Given the description of an element on the screen output the (x, y) to click on. 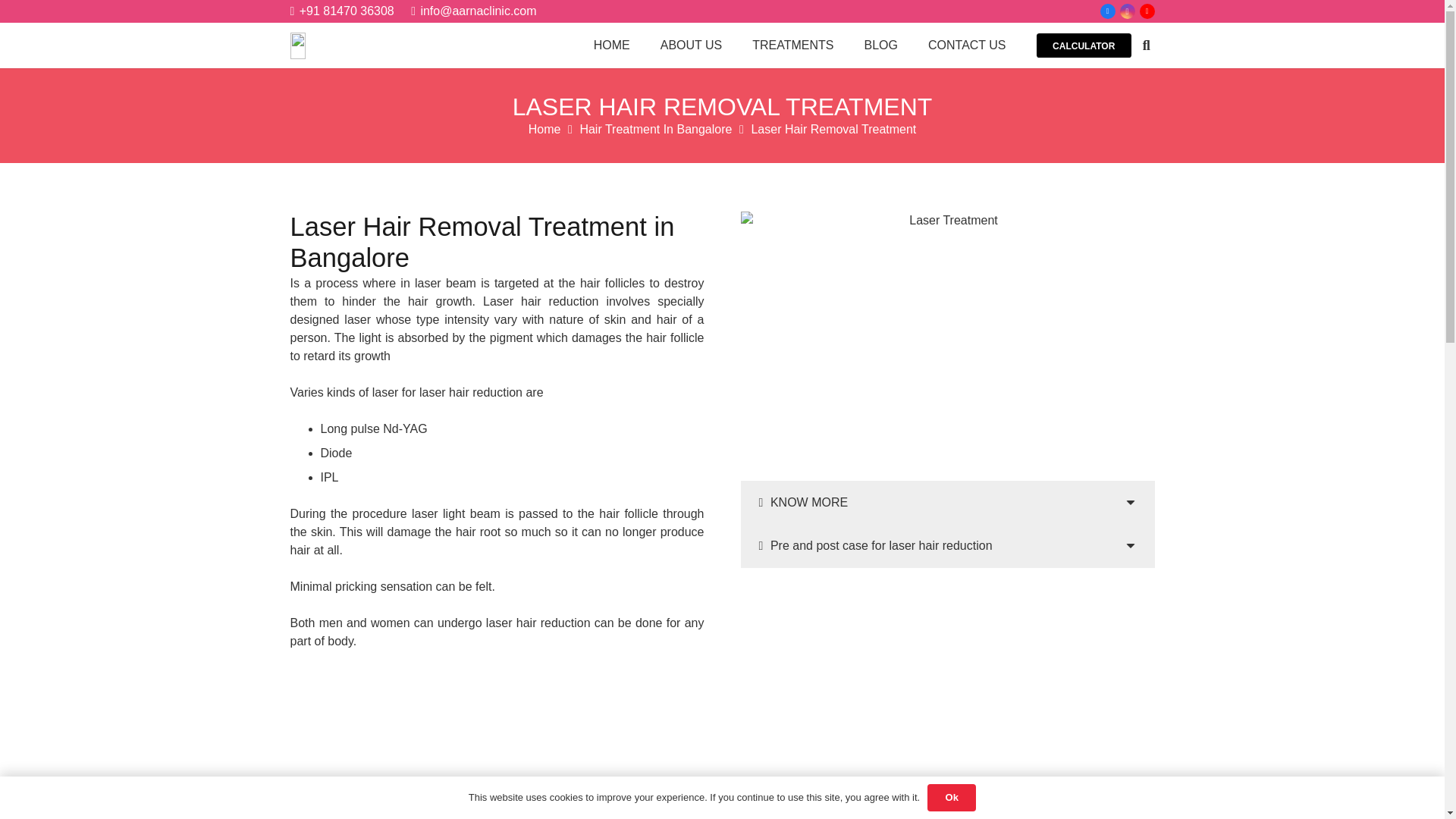
Facebook (1107, 11)
CONTACT US (967, 44)
KNOW MORE (946, 502)
Hair Treatment In Bangalore (655, 128)
Instagram (1127, 11)
HOME (611, 44)
YouTube (1147, 11)
ABOUT US (691, 44)
Make an Appointment (947, 615)
Laser Hair Removal Treatment (833, 128)
